Given the description of an element on the screen output the (x, y) to click on. 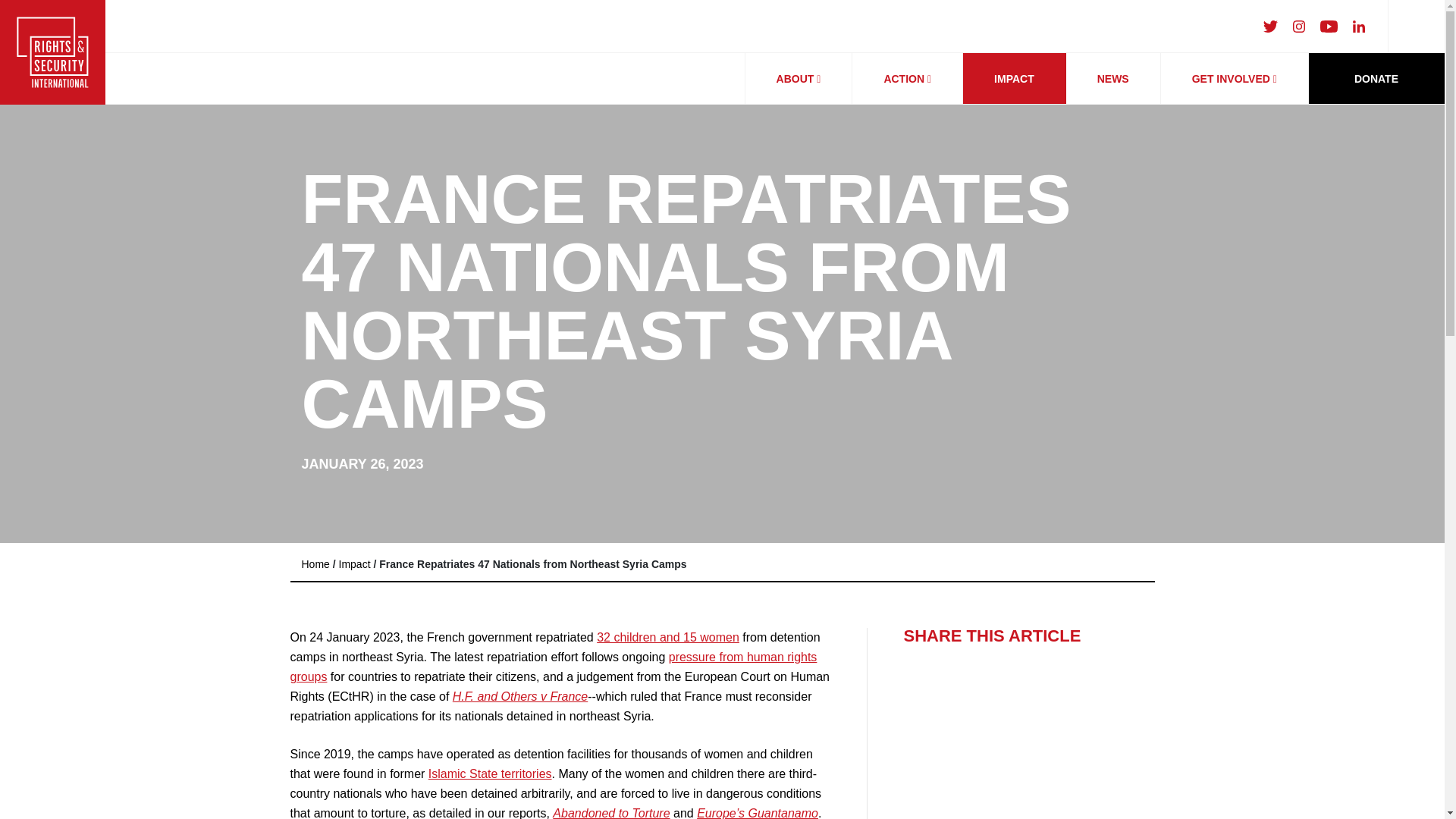
ACTION (906, 78)
GET INVOLVED (1233, 78)
NEWS (1112, 78)
Impact (355, 563)
H.F. and Others v France (520, 696)
Home (315, 563)
pressure from human rights groups (552, 666)
Islamic State territories (489, 773)
ABOUT (798, 78)
DONATE (1375, 78)
